Given the description of an element on the screen output the (x, y) to click on. 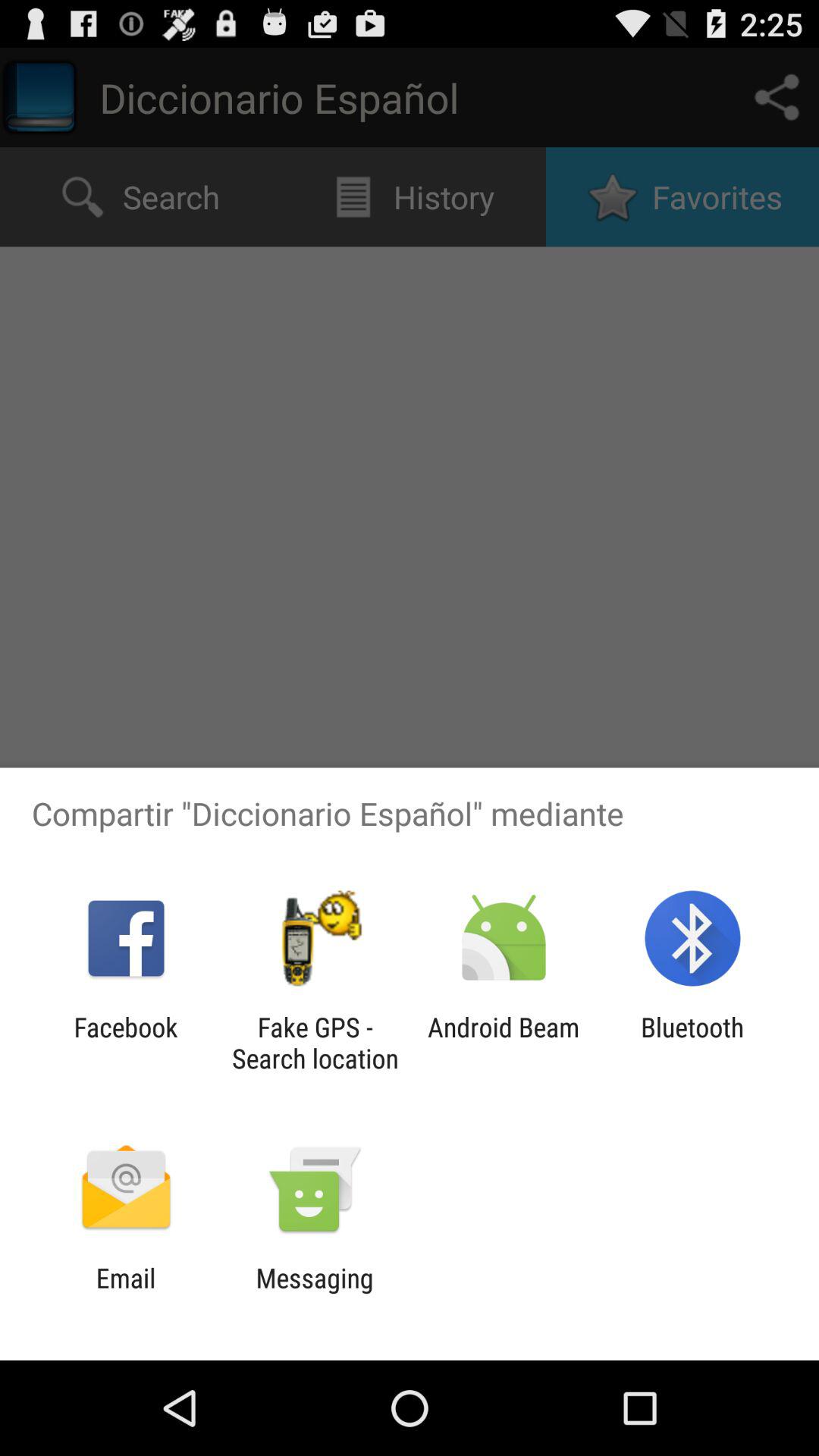
tap the icon to the left of the bluetooth (503, 1042)
